Given the description of an element on the screen output the (x, y) to click on. 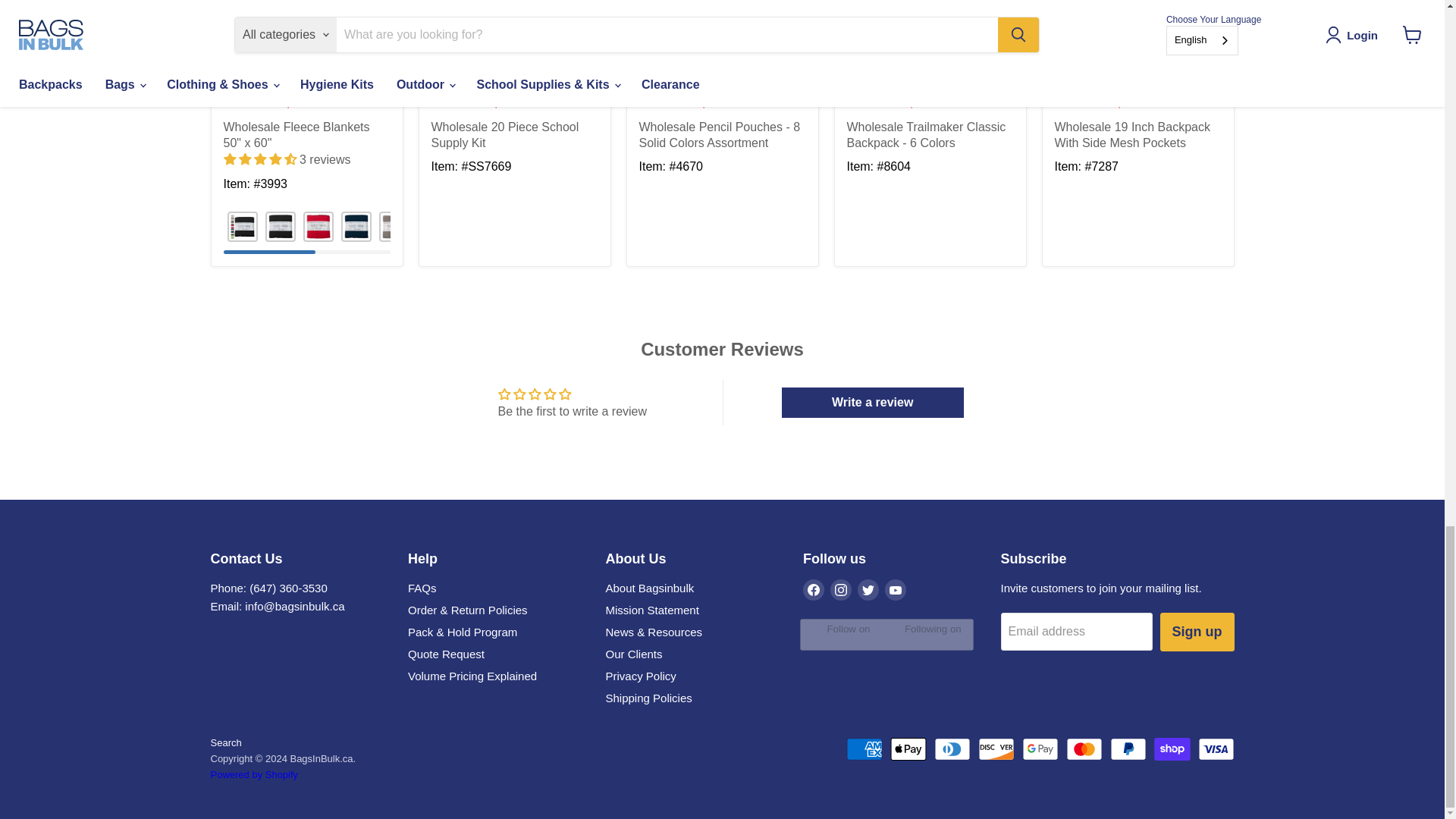
Instagram (840, 589)
Twitter (868, 589)
Facebook (813, 589)
YouTube (895, 589)
